Given the description of an element on the screen output the (x, y) to click on. 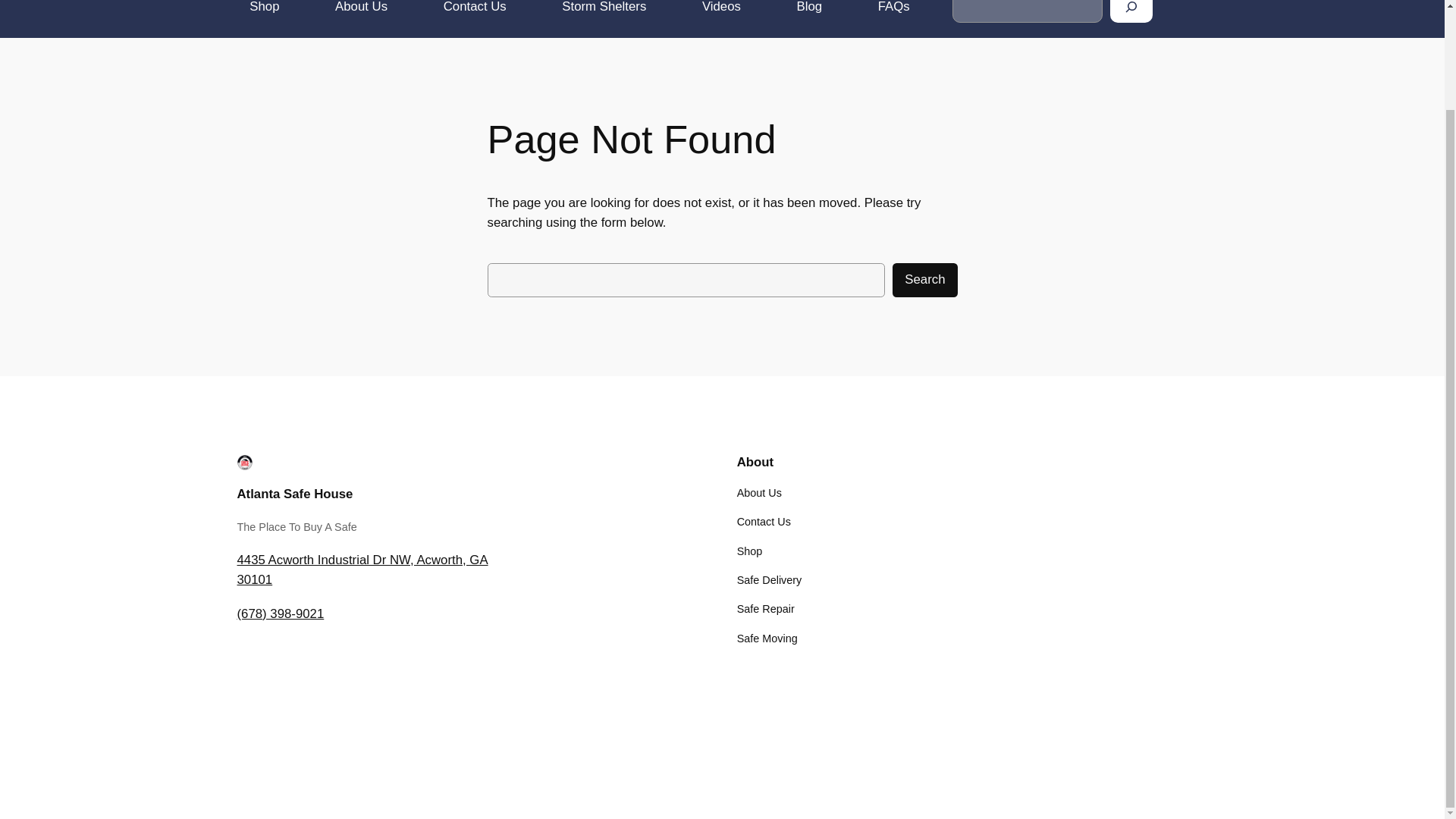
About Us (360, 11)
4435 Acworth Industrial Dr NW, Acworth, GA 30101 (361, 569)
Shop (749, 550)
Videos (721, 11)
Search (924, 279)
Storm Shelters (604, 11)
About Us (758, 492)
Contact Us (763, 521)
Safe Moving (766, 638)
Atlanta Safe House (293, 493)
